Given the description of an element on the screen output the (x, y) to click on. 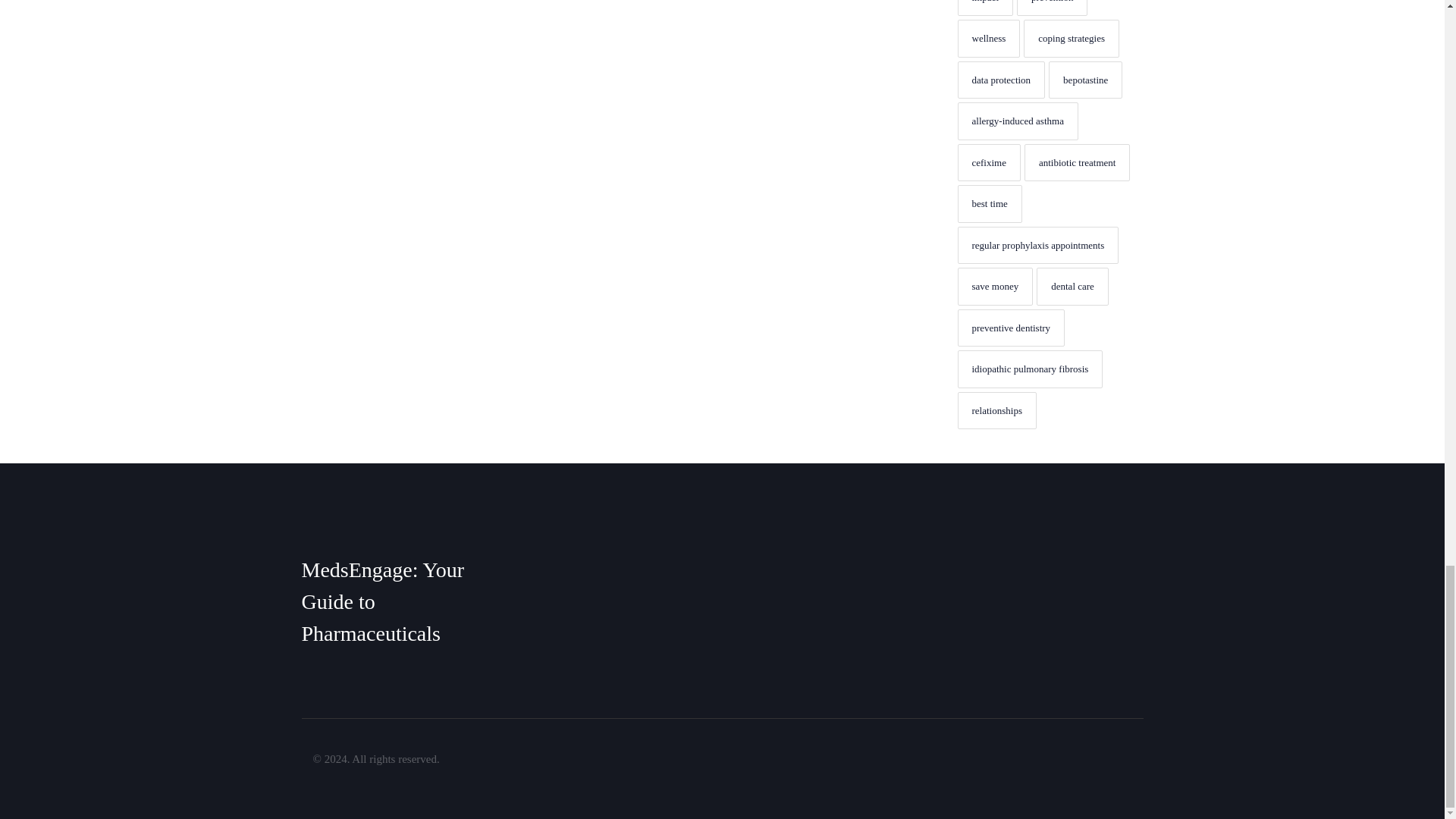
cefixime (988, 162)
impact (983, 8)
bepotastine (1085, 80)
coping strategies (1071, 38)
data protection (1000, 80)
wellness (988, 38)
prevention (1051, 8)
allergy-induced asthma (1016, 121)
antibiotic treatment (1077, 162)
